Given the description of an element on the screen output the (x, y) to click on. 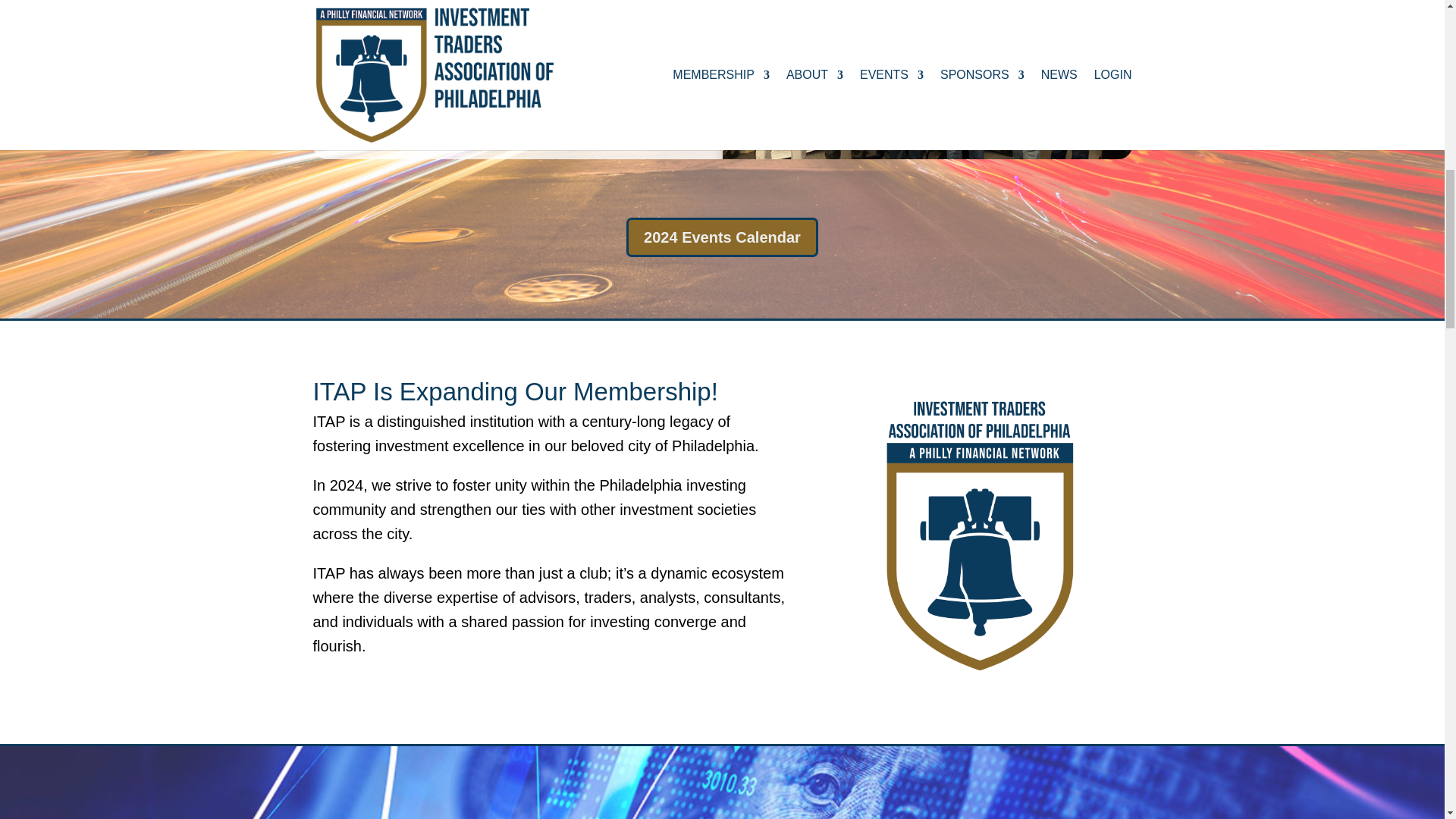
2024-Conference-HP (926, 79)
ITAP-Logo-PFN (981, 532)
